Given the description of an element on the screen output the (x, y) to click on. 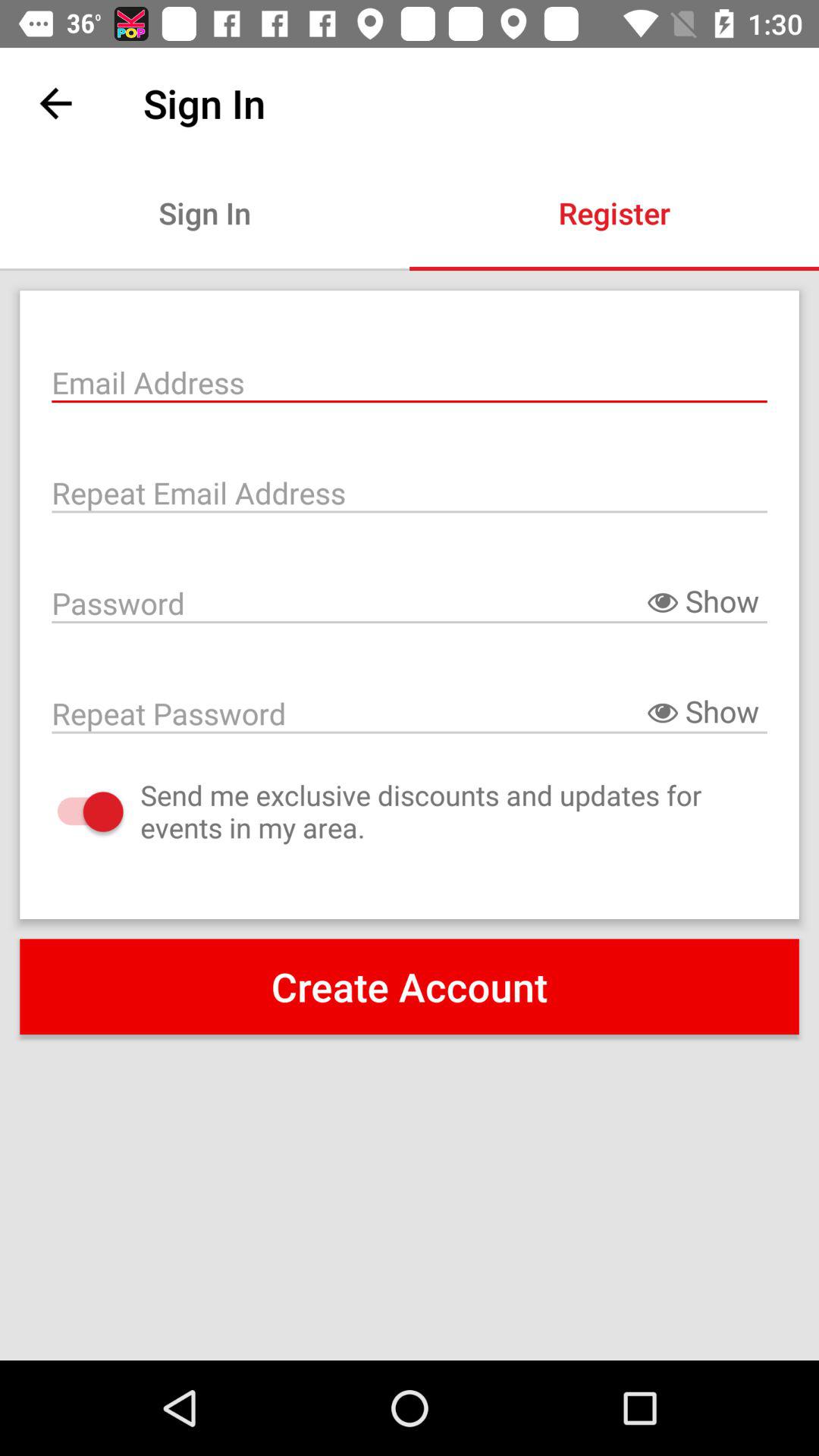
launch the icon at the top right corner (614, 212)
